Given the description of an element on the screen output the (x, y) to click on. 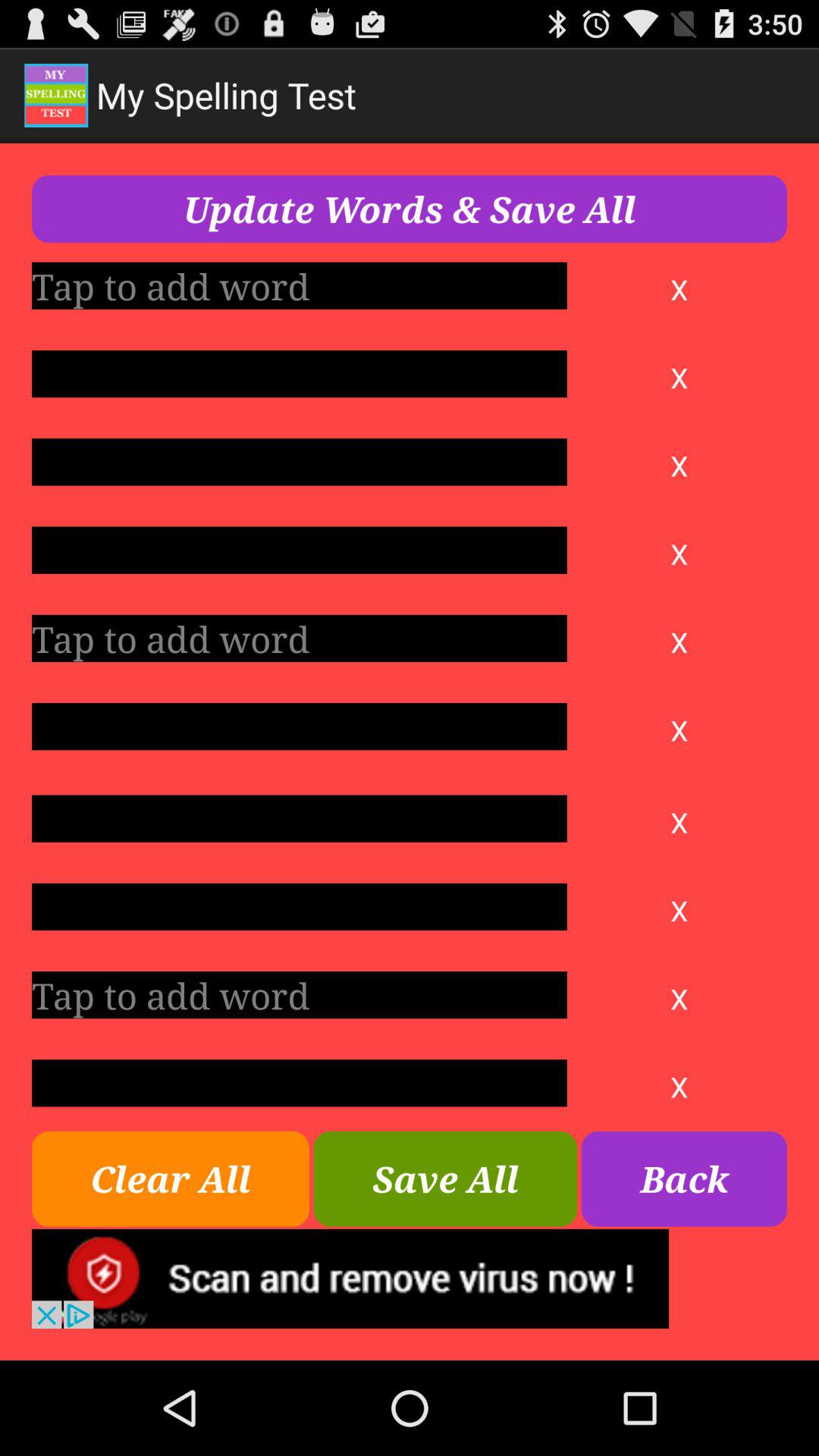
blank text area (299, 549)
